Given the description of an element on the screen output the (x, y) to click on. 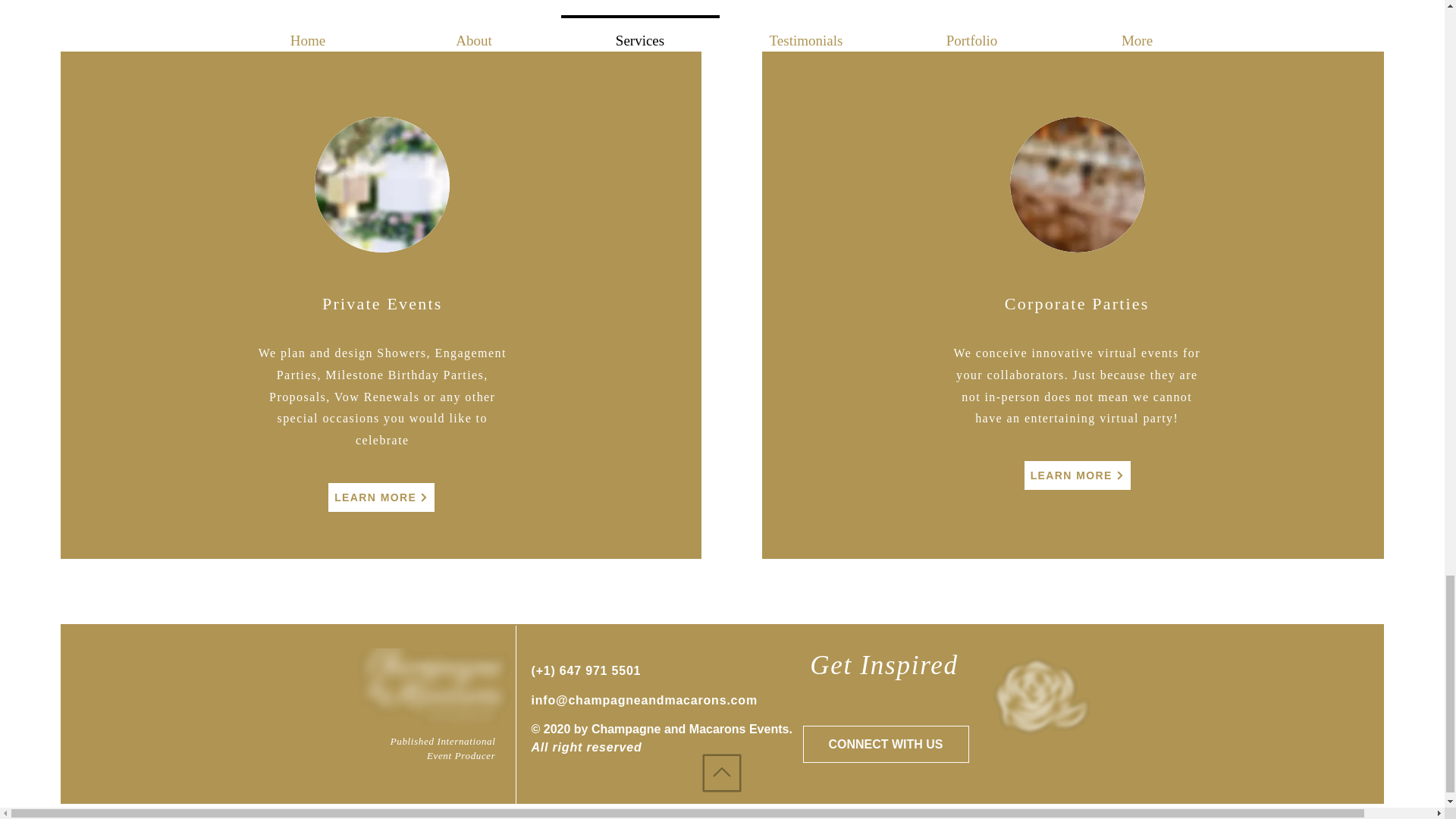
LEARN MORE (1077, 475)
LEARN MORE (381, 497)
CONNECT WITH US (885, 743)
